Given the description of an element on the screen output the (x, y) to click on. 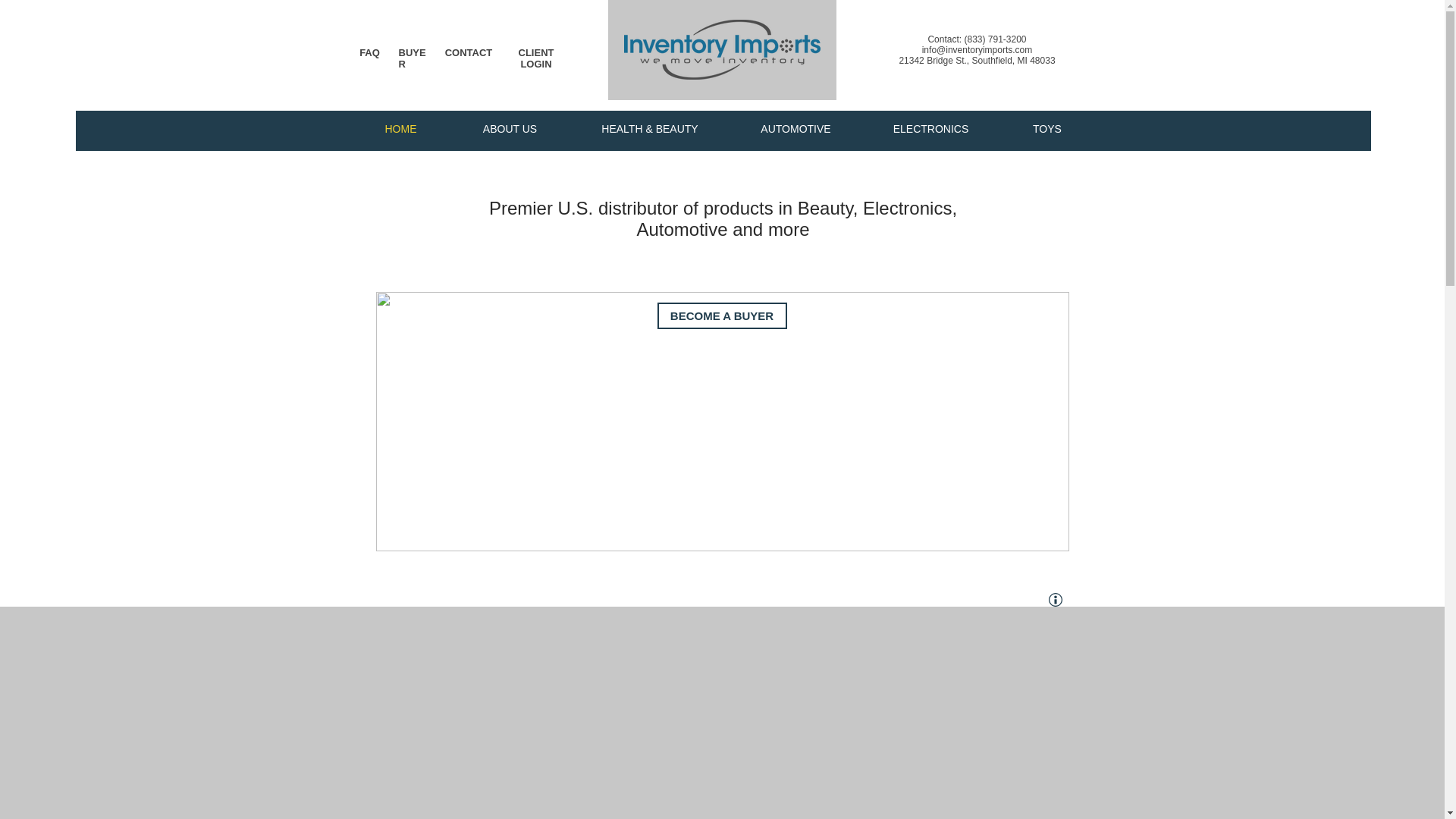
ABOUT US (509, 128)
AUTOMOTIVE (795, 128)
TOYS (1046, 128)
ELECTRONICS (929, 128)
CONTACT (469, 52)
CLIENT LOGIN (536, 57)
BUYER (412, 57)
FAQ (369, 52)
HOME (400, 128)
BECOME A BUYER (721, 315)
